Given the description of an element on the screen output the (x, y) to click on. 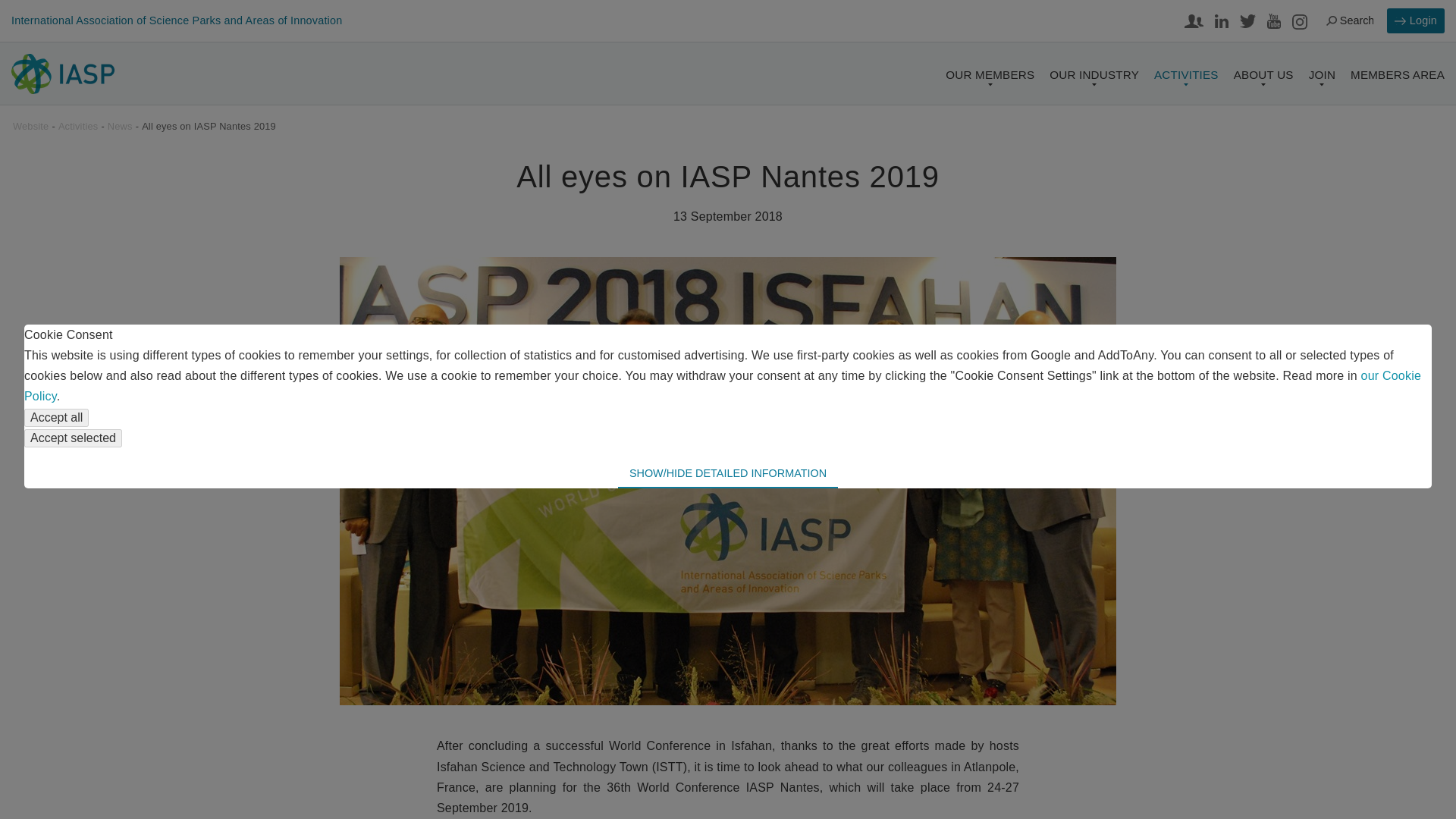
Accept all (56, 417)
ABOUT US (1263, 78)
Login (1415, 20)
OUR INDUSTRY (1093, 78)
Accept selected (73, 438)
OUR MEMBERS (988, 78)
Search (1350, 21)
ACTIVITIES (1186, 78)
